Given the description of an element on the screen output the (x, y) to click on. 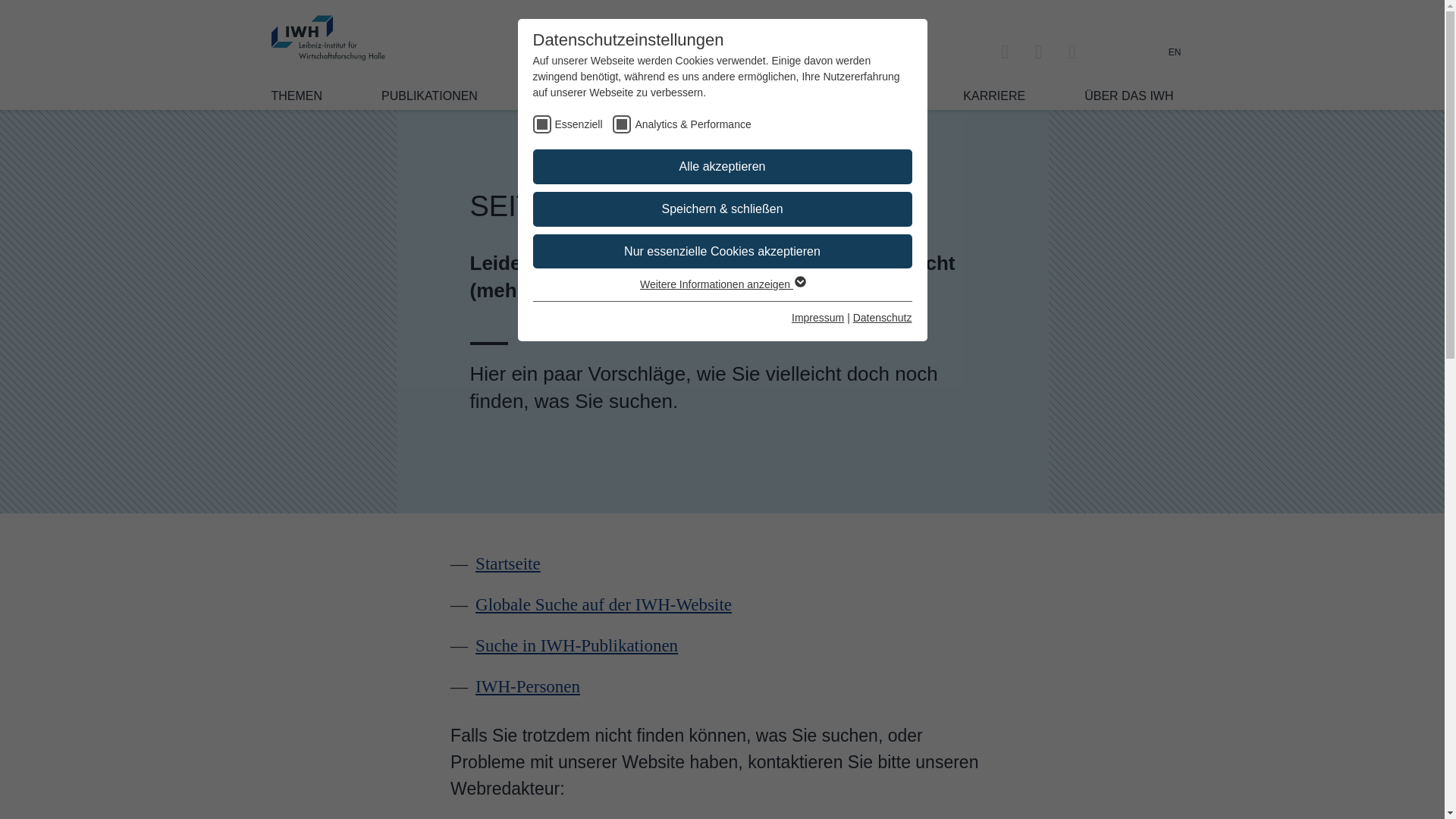
EN (1174, 51)
absenden (824, 811)
PUBLIKATIONEN (429, 96)
THEMEN (296, 96)
FORSCHUNG (575, 96)
